Given the description of an element on the screen output the (x, y) to click on. 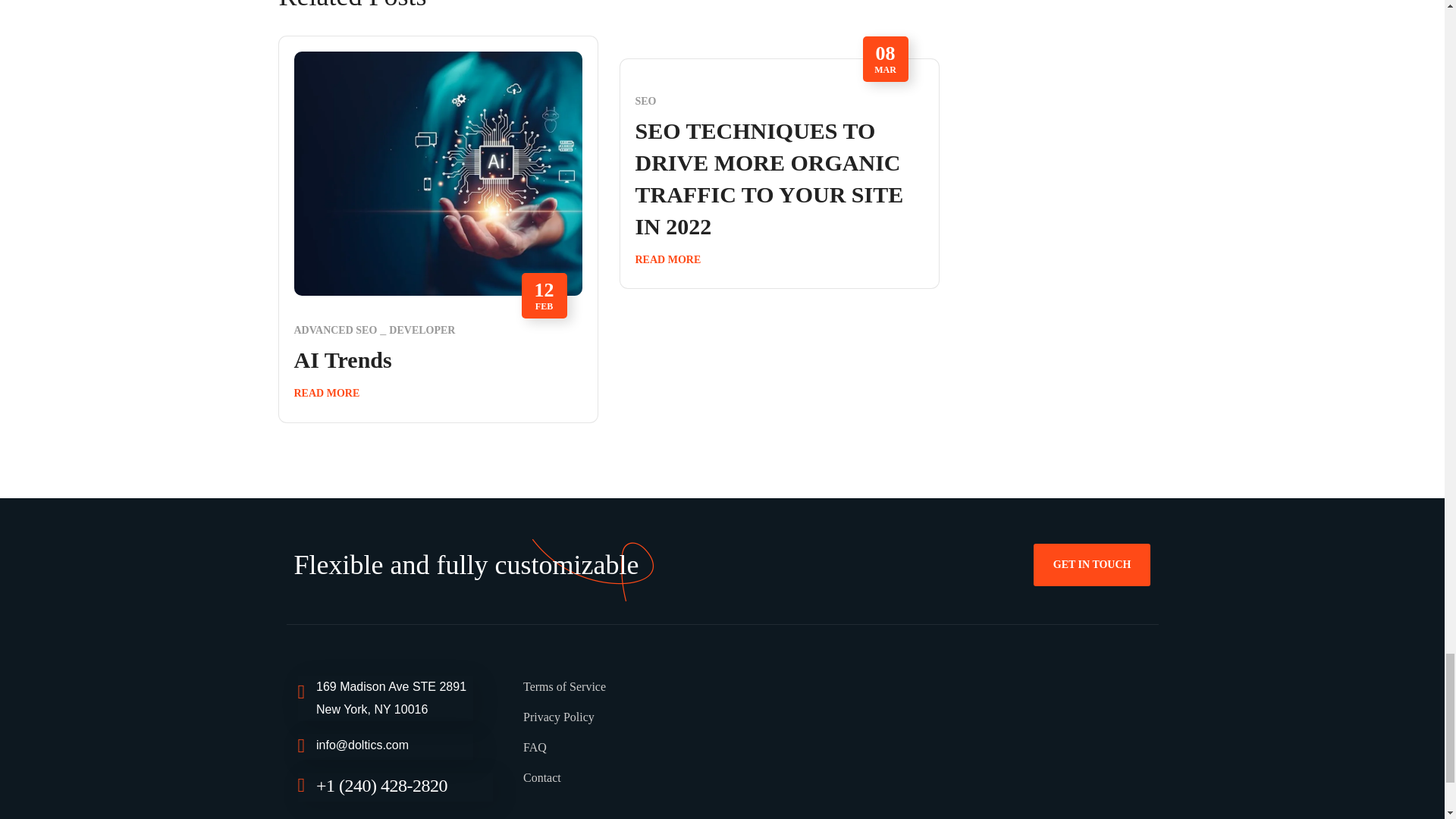
169 Madison Ave STE 2891 (940, 750)
